Given the description of an element on the screen output the (x, y) to click on. 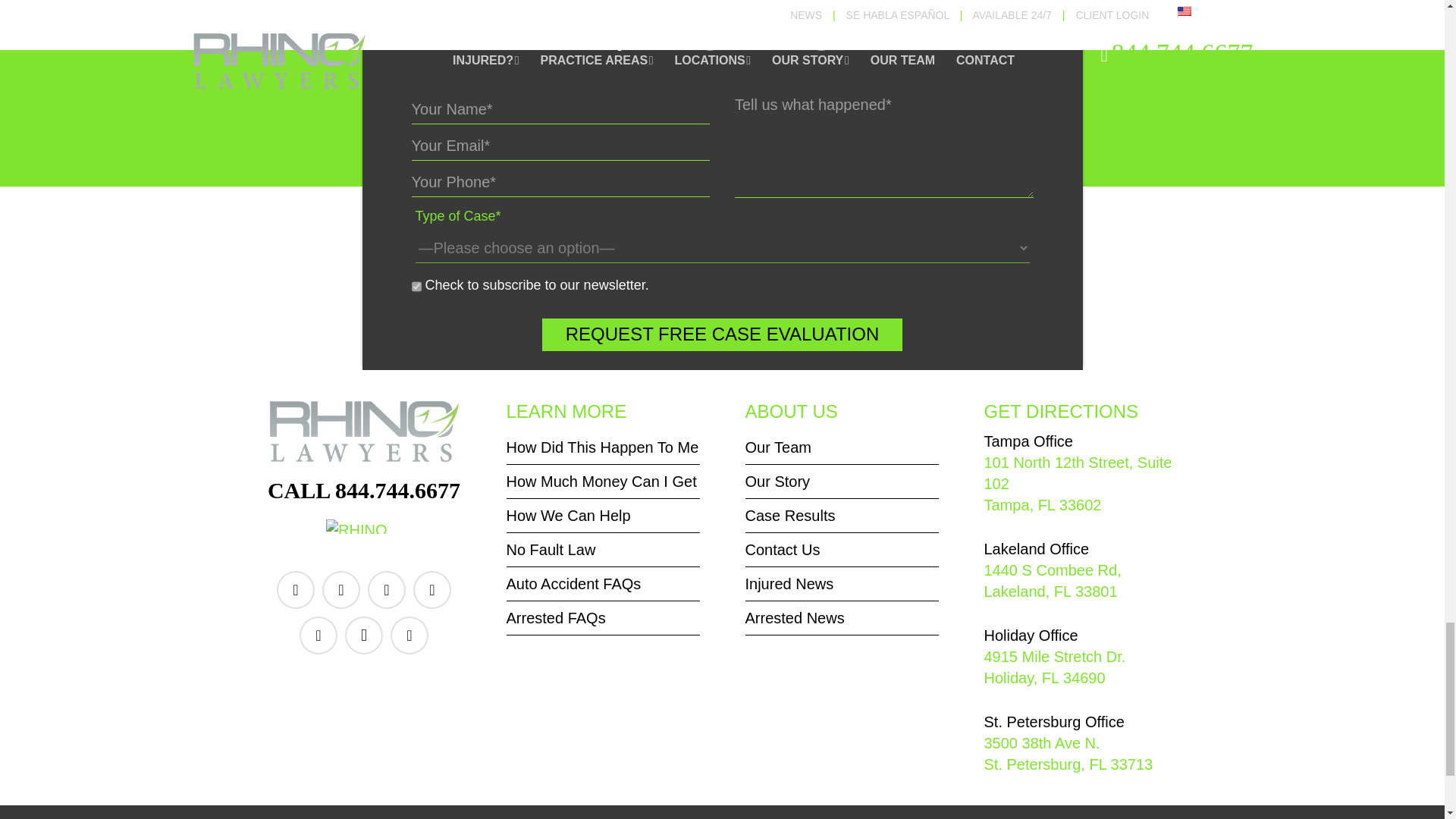
Twitter (318, 635)
LinkedIn (340, 589)
Facebook (295, 589)
YouTube (387, 589)
REQUEST FREE CASE EVALUATION (721, 334)
Yelp (432, 589)
RHINO Lawyers is a BBB Accredited Lawyer in Tampa, FL (363, 533)
Instagram (363, 635)
